Given the description of an element on the screen output the (x, y) to click on. 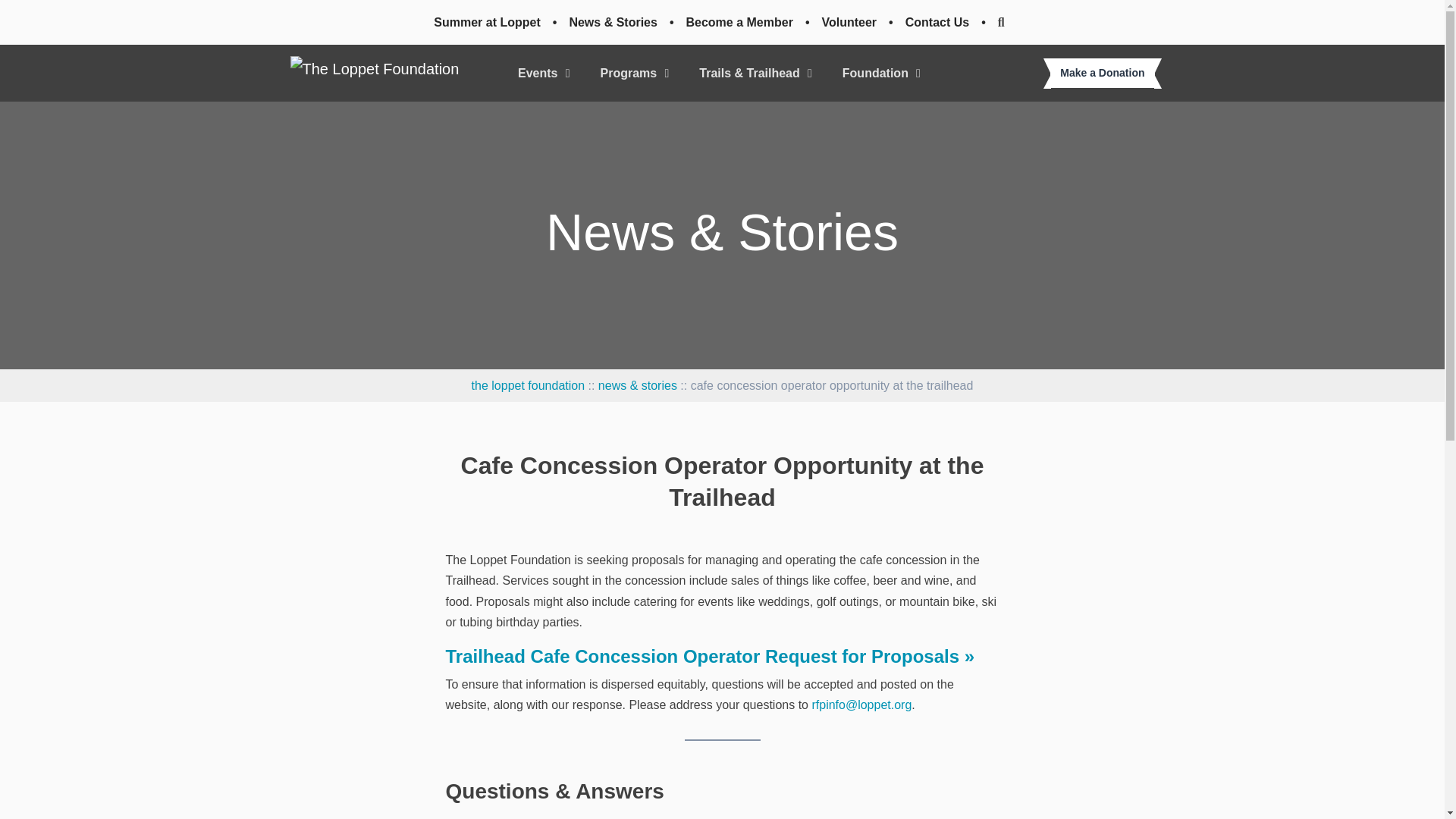
Go to The Loppet Foundation. (528, 385)
Summer at Loppet (487, 21)
Volunteer (848, 21)
Events (543, 73)
Programs (634, 73)
Contact Us (937, 21)
Become a Member (738, 21)
